Given the description of an element on the screen output the (x, y) to click on. 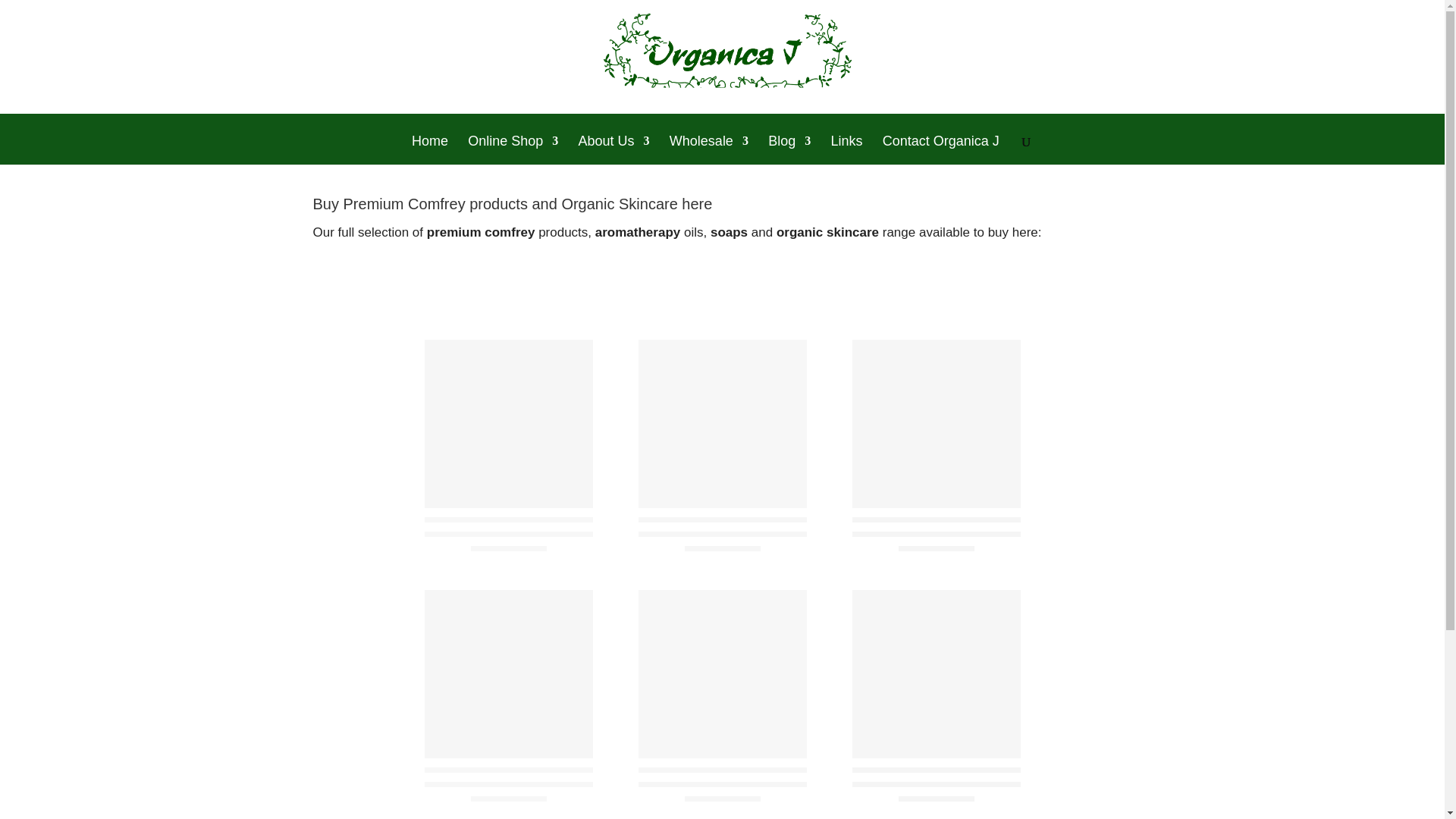
About Us (613, 149)
Wholesale (708, 149)
Home (430, 149)
Blog (789, 149)
Contact Organica J (940, 149)
Online Shop (512, 149)
Links (845, 149)
